Given the description of an element on the screen output the (x, y) to click on. 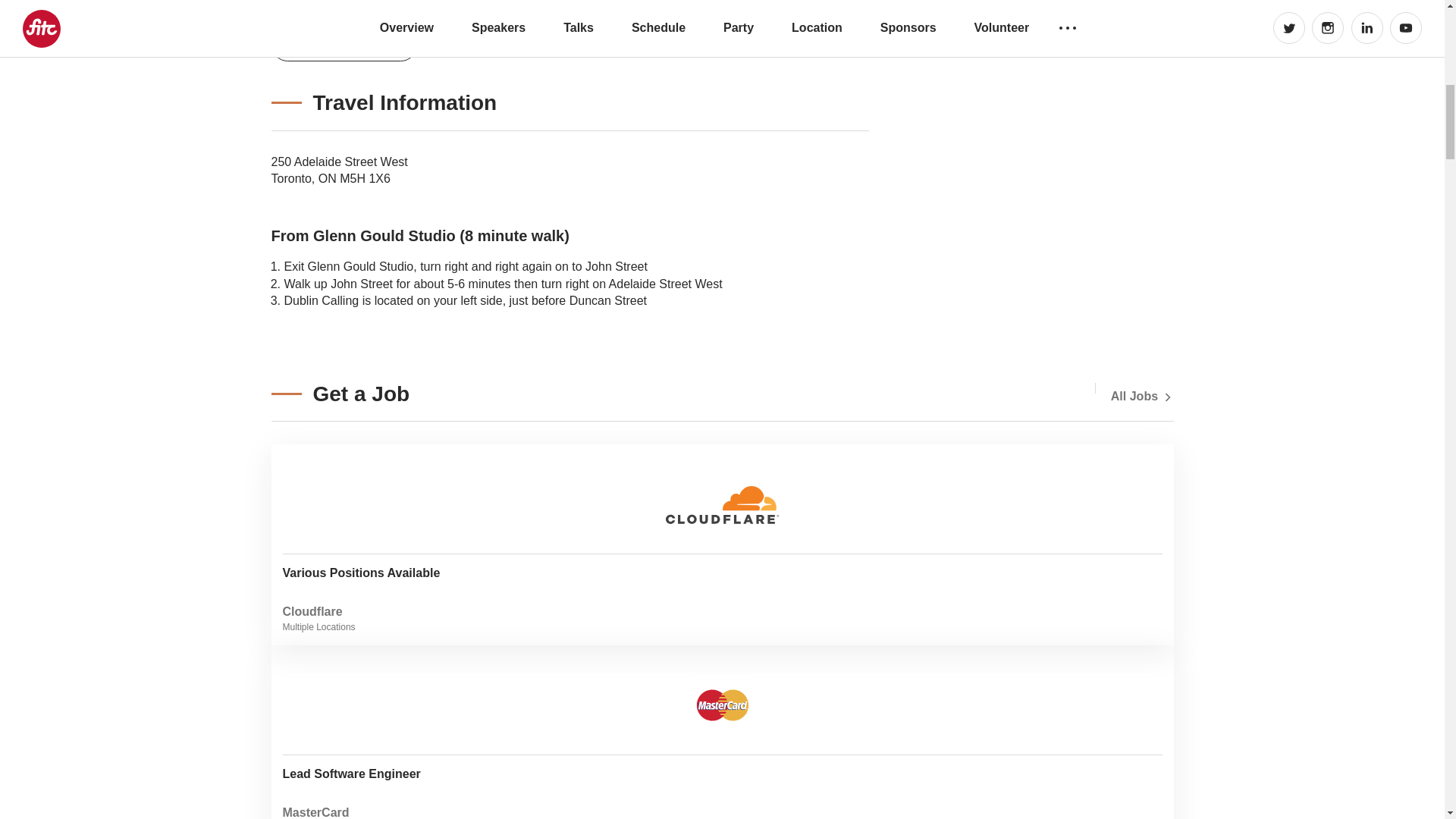
Visit Venue Website (1141, 395)
